Given the description of an element on the screen output the (x, y) to click on. 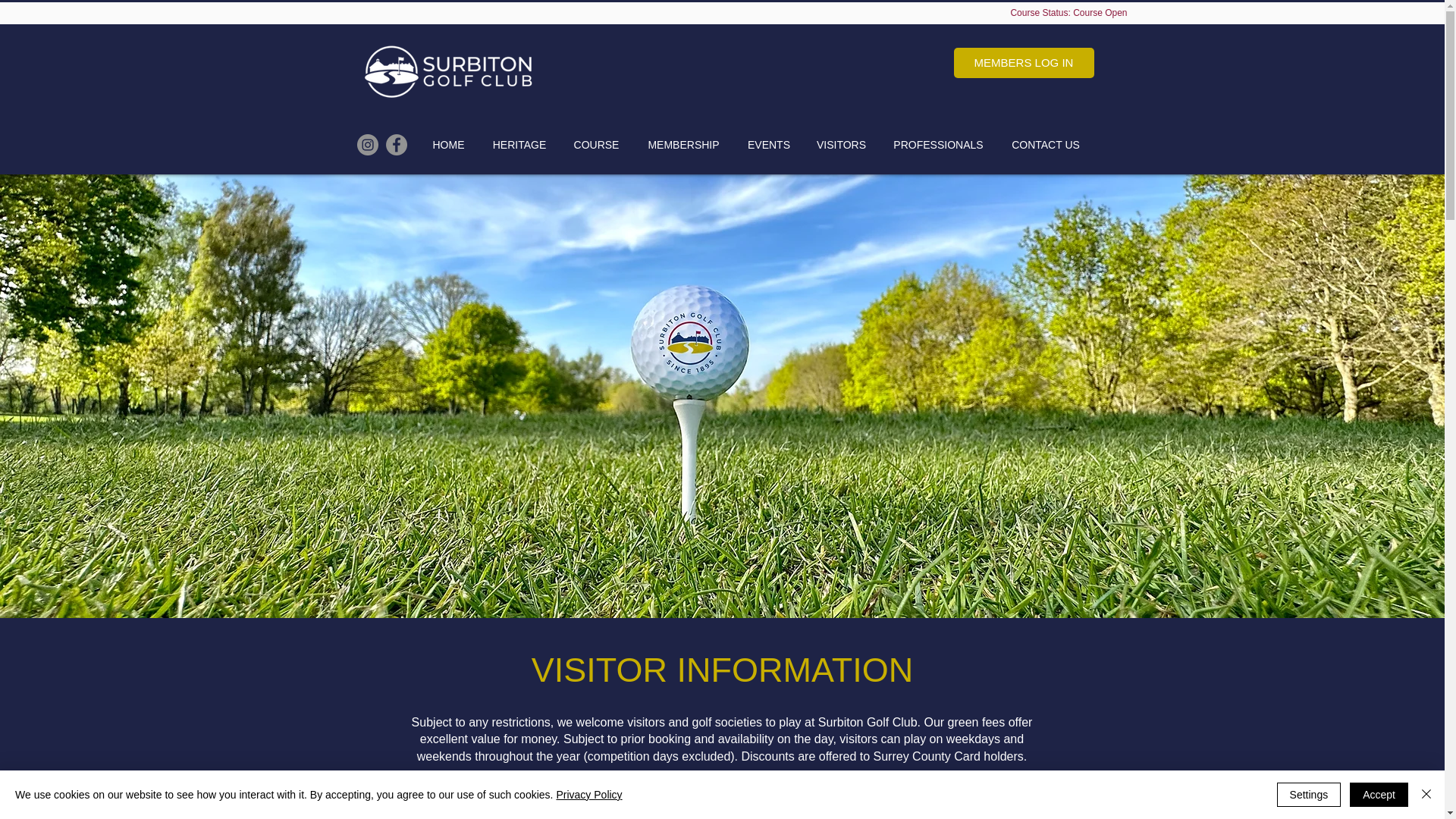
HOME (449, 144)
MEMBERS LOG IN (1023, 62)
Wix Weather (1015, 98)
